Given the description of an element on the screen output the (x, y) to click on. 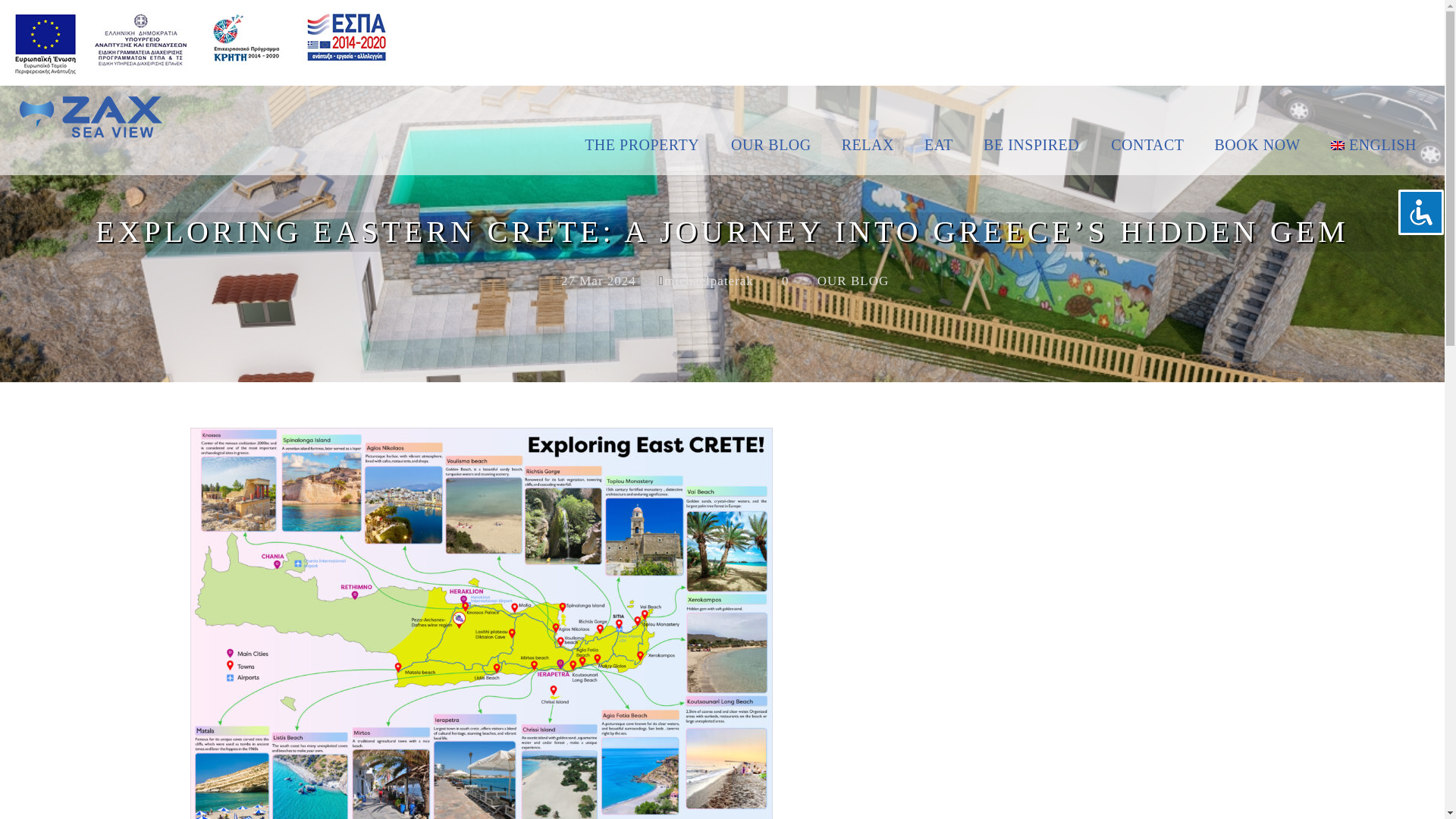
Posts by michaelpaterak (708, 280)
BE INSPIRED (1032, 153)
OUR BLOG (771, 153)
English (1374, 153)
EAT (938, 153)
RELAX (867, 153)
27 Mar 2024 (598, 280)
BOOK NOW (1257, 153)
ENGLISH (1374, 153)
THE PROPERTY (650, 153)
